Given the description of an element on the screen output the (x, y) to click on. 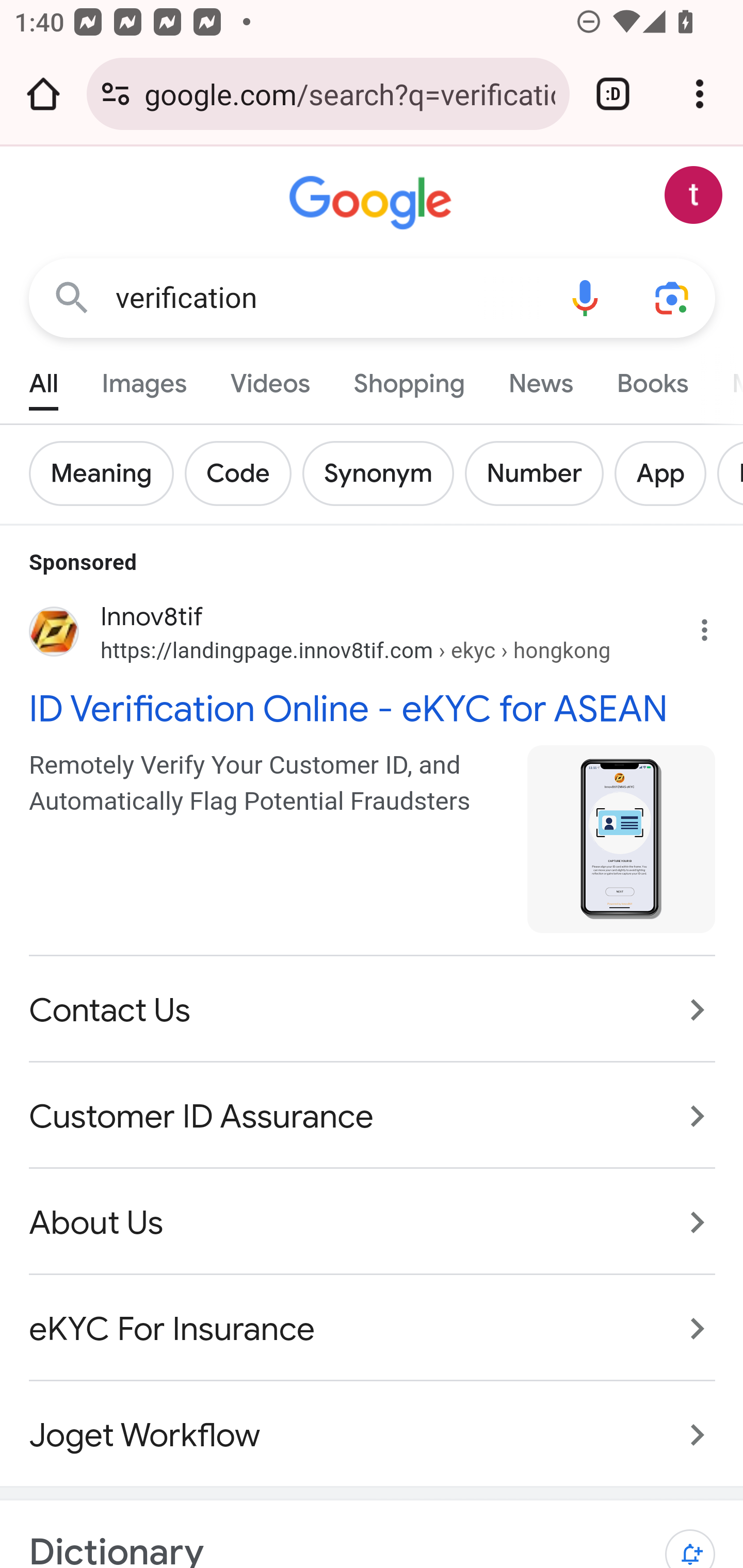
Open the home page (43, 93)
Connection is secure (115, 93)
Switch or close tabs (612, 93)
Customize and control Google Chrome (699, 93)
Google (372, 203)
Google Search (71, 296)
Search using your camera or photos (672, 296)
verification (328, 297)
Images (144, 378)
Videos (270, 378)
Shopping (408, 378)
News (540, 378)
Books (652, 378)
Add Meaning Meaning (106, 473)
Add Code Code (243, 473)
Add Synonym Synonym (383, 473)
Add Number Number (539, 473)
Add App App (665, 473)
Why this ad? (714, 625)
ID Verification Online - eKYC for ASEAN (372, 707)
Image from innov8tif.com (621, 837)
Contact Us (372, 1009)
Customer ID Assurance (372, 1116)
About Us (372, 1222)
eKYC For Insurance (372, 1329)
Joget Workflow (372, 1424)
Get notifications about Word of the day (690, 1538)
